Given the description of an element on the screen output the (x, y) to click on. 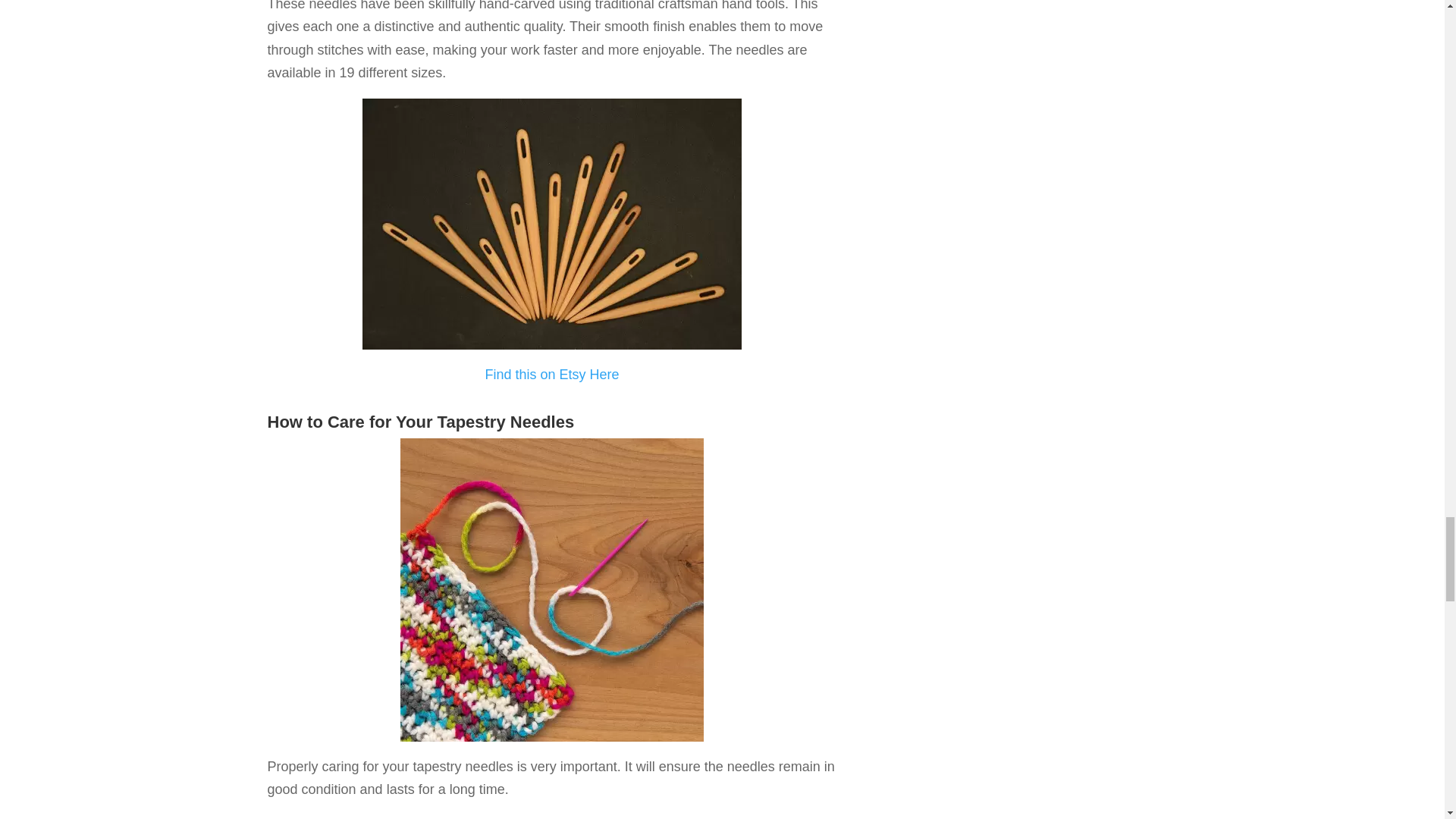
on Etsy Here (578, 374)
A Guide to Tapestry Needles (551, 590)
Find this (510, 374)
A Guide to Tapestry Needles (551, 223)
